Given the description of an element on the screen output the (x, y) to click on. 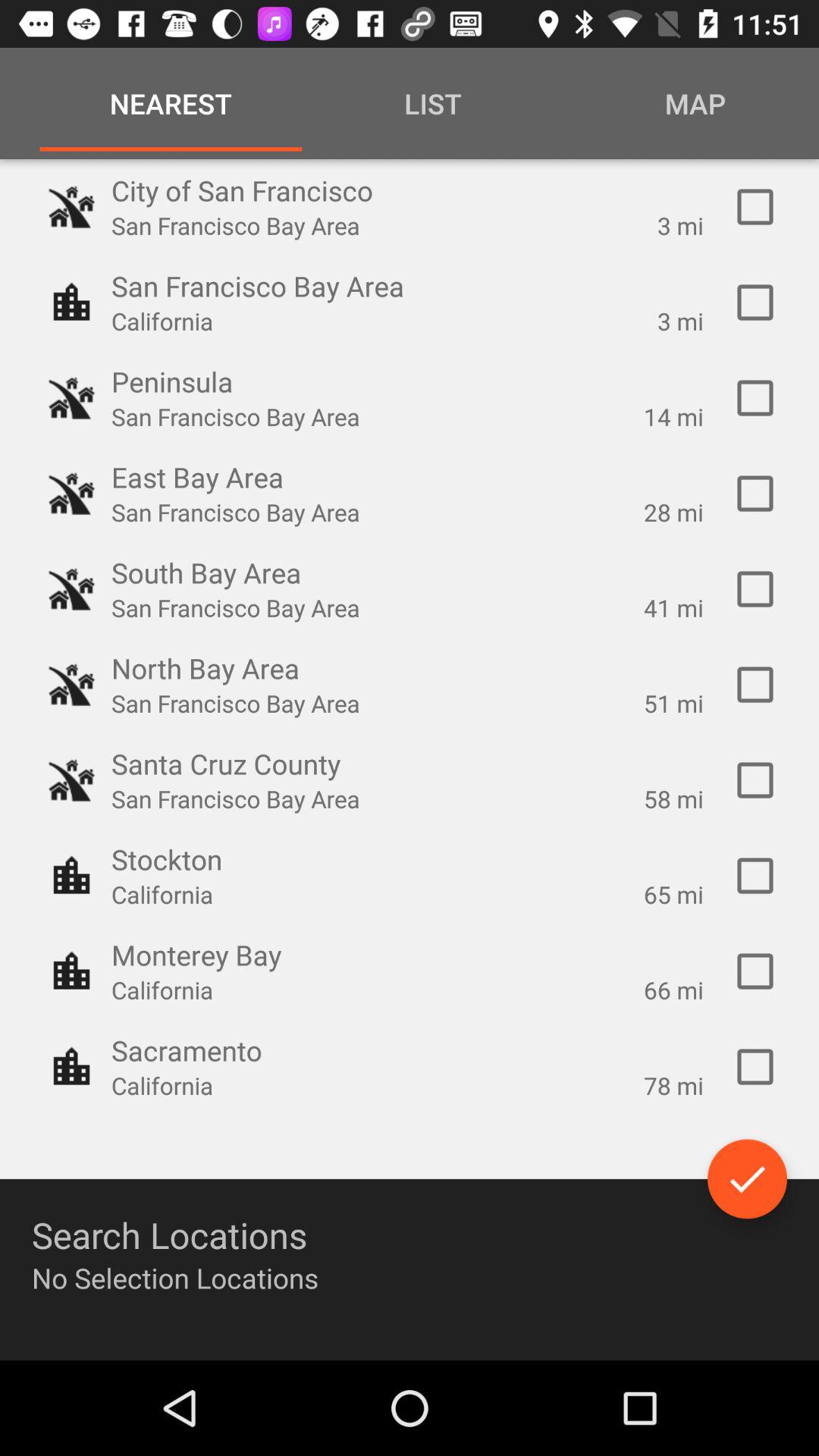
select this location (755, 971)
